Given the description of an element on the screen output the (x, y) to click on. 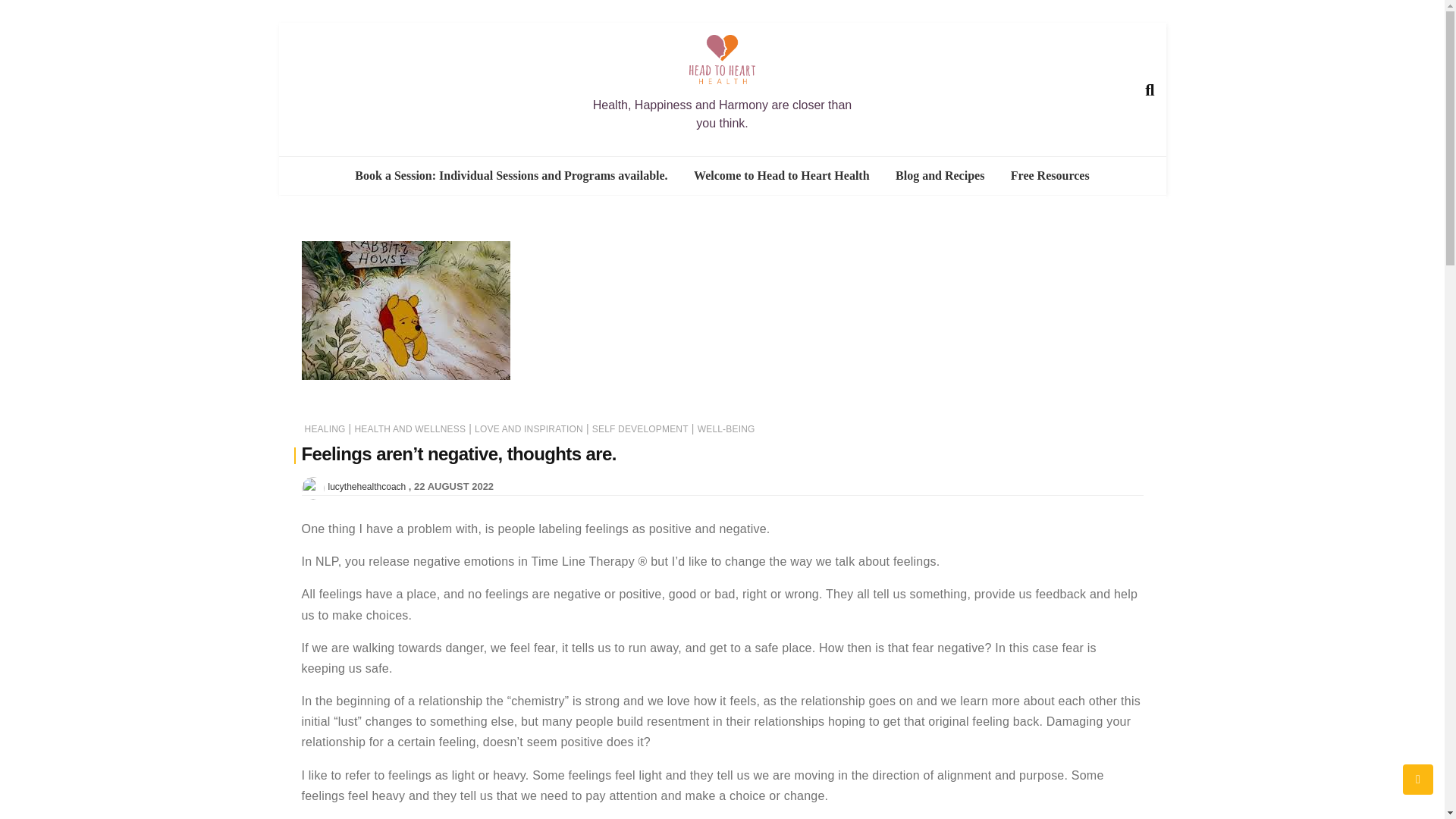
22 AUGUST 2022 (453, 486)
Free Resources (1049, 175)
Welcome to Head to Heart Health (781, 175)
HEALTH AND WELLNESS (410, 429)
WELL-BEING (726, 429)
Blog and Recipes (939, 175)
LOVE AND INSPIRATION (528, 429)
Book a Session: Individual Sessions and Programs available. (510, 175)
lucythehealthcoach (366, 485)
SELF DEVELOPMENT (640, 429)
